Given the description of an element on the screen output the (x, y) to click on. 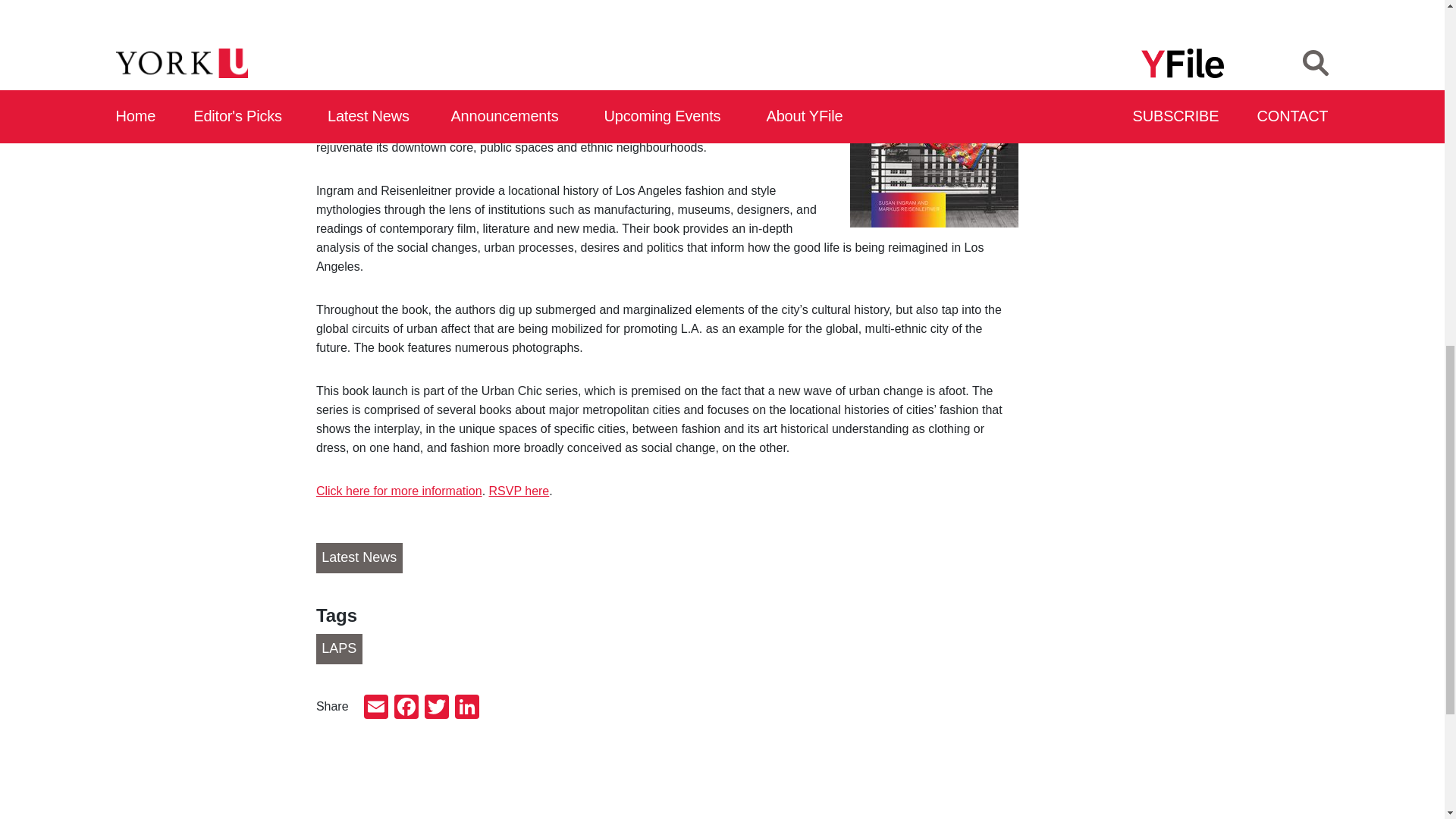
Email (376, 708)
Twitter (436, 708)
RSVP here (519, 490)
Email (376, 708)
Facebook (406, 708)
LAPS (338, 648)
Facebook (406, 708)
LinkedIn (466, 708)
Latest News (359, 557)
Click here for more information (398, 490)
